Given the description of an element on the screen output the (x, y) to click on. 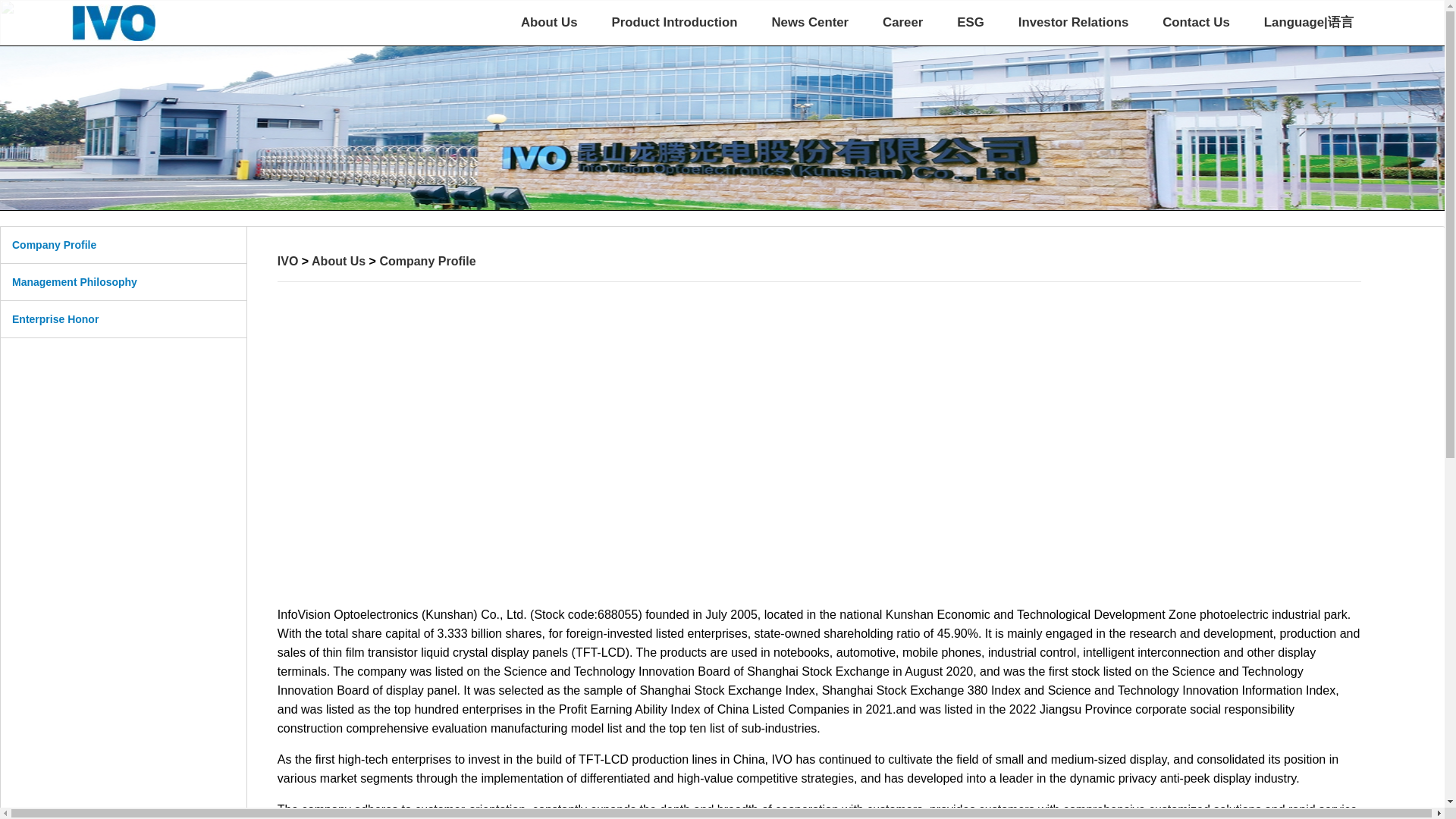
Contact Us (1195, 22)
Investor Relations (1072, 22)
About Us (549, 22)
Product Introduction (673, 22)
News Center (809, 22)
